Given the description of an element on the screen output the (x, y) to click on. 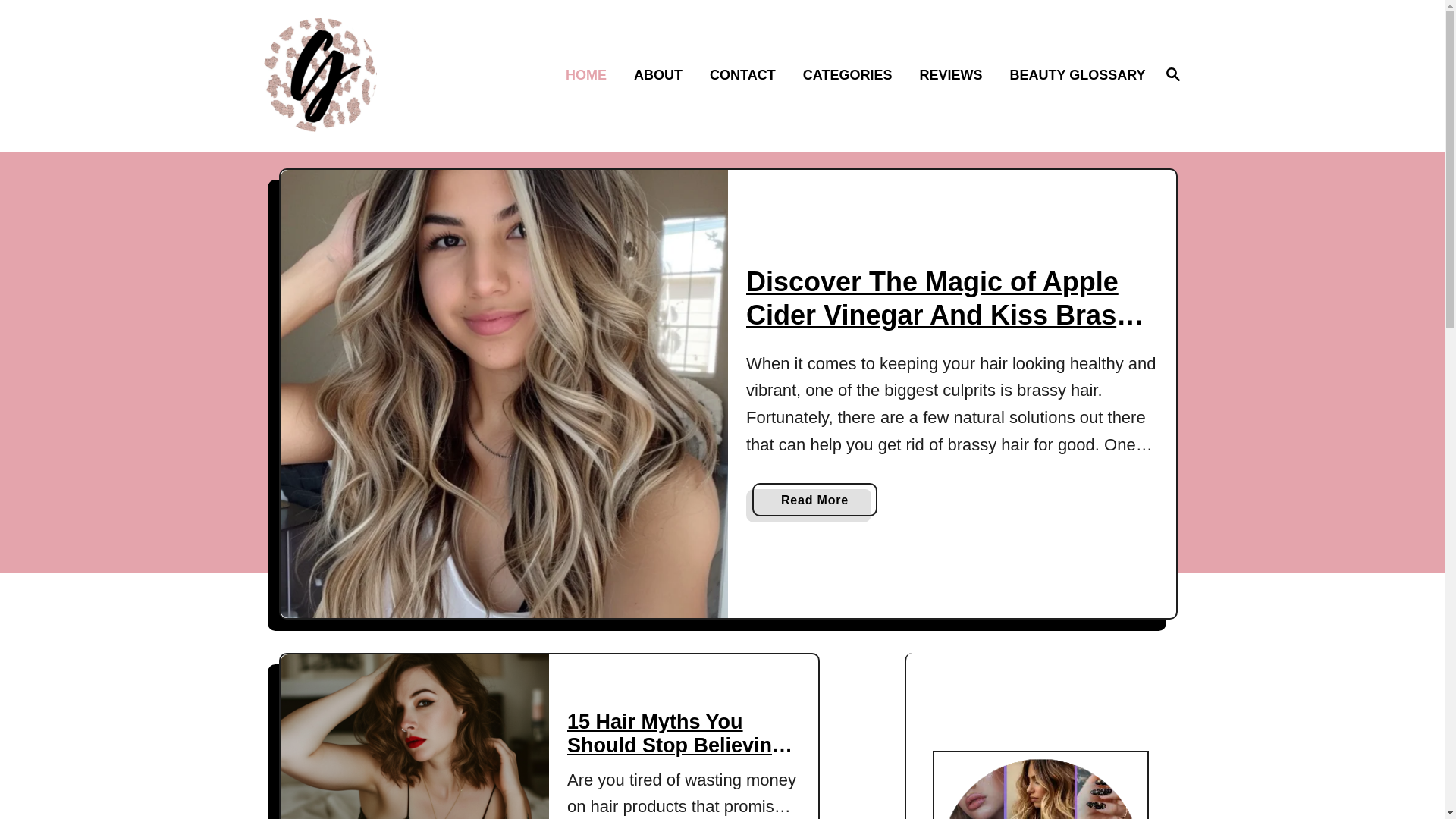
CATEGORIES (852, 75)
HOME (590, 75)
Gemma Etc. (371, 74)
CONTACT (746, 75)
Magnifying Glass (1171, 74)
ABOUT (662, 75)
15 Hair Myths You Should Stop Believing Right Now! (679, 744)
